Given the description of an element on the screen output the (x, y) to click on. 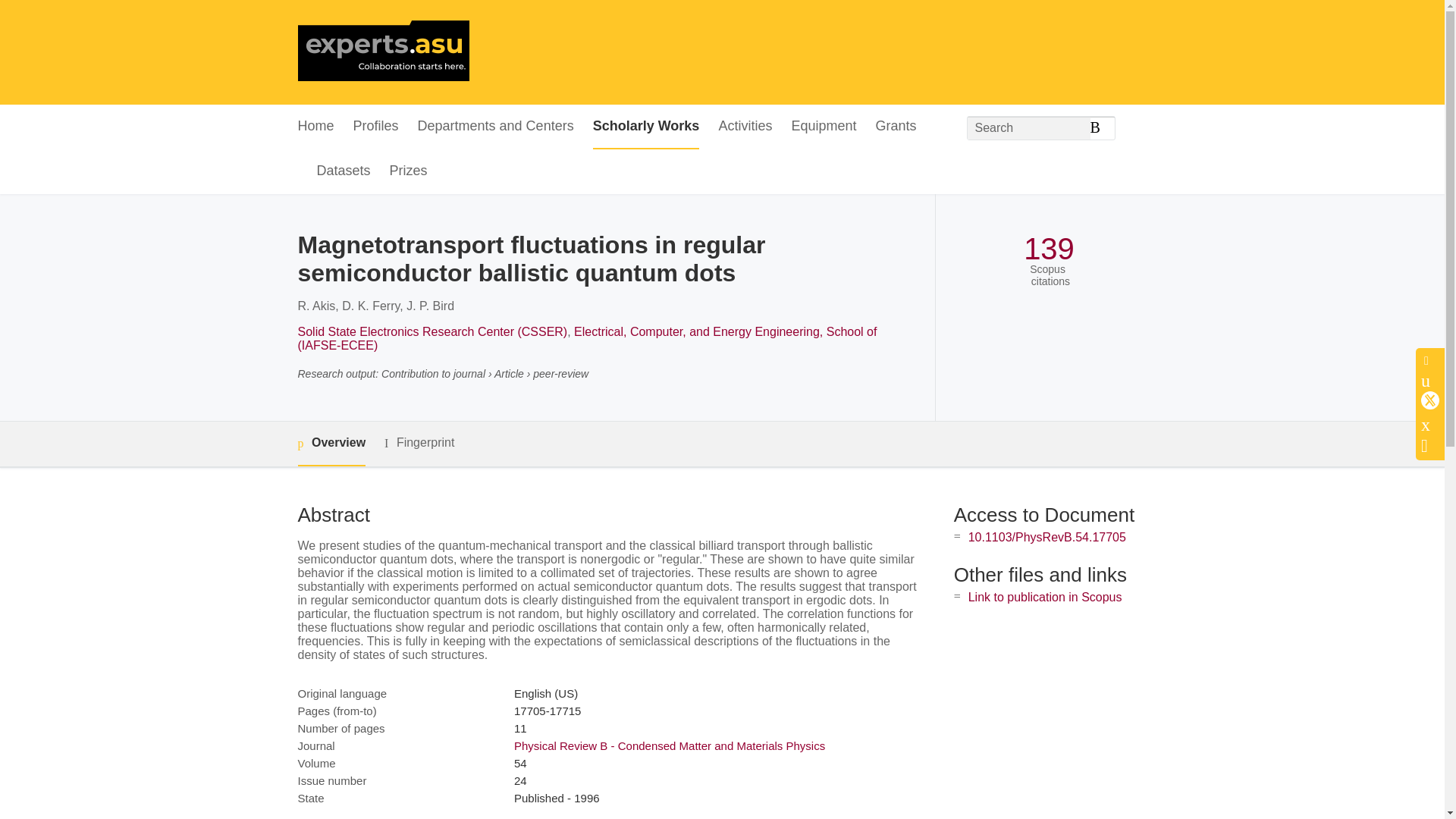
Prizes (409, 171)
Scholarly Works (646, 126)
Activities (744, 126)
Overview (331, 443)
Home (315, 126)
Departments and Centers (495, 126)
Fingerprint (419, 443)
Link to publication in Scopus (1045, 596)
Grants (895, 126)
Profiles (375, 126)
139 (1048, 248)
Physical Review B - Condensed Matter and Materials Physics (669, 745)
Datasets (344, 171)
Arizona State University Home (382, 52)
